Given the description of an element on the screen output the (x, y) to click on. 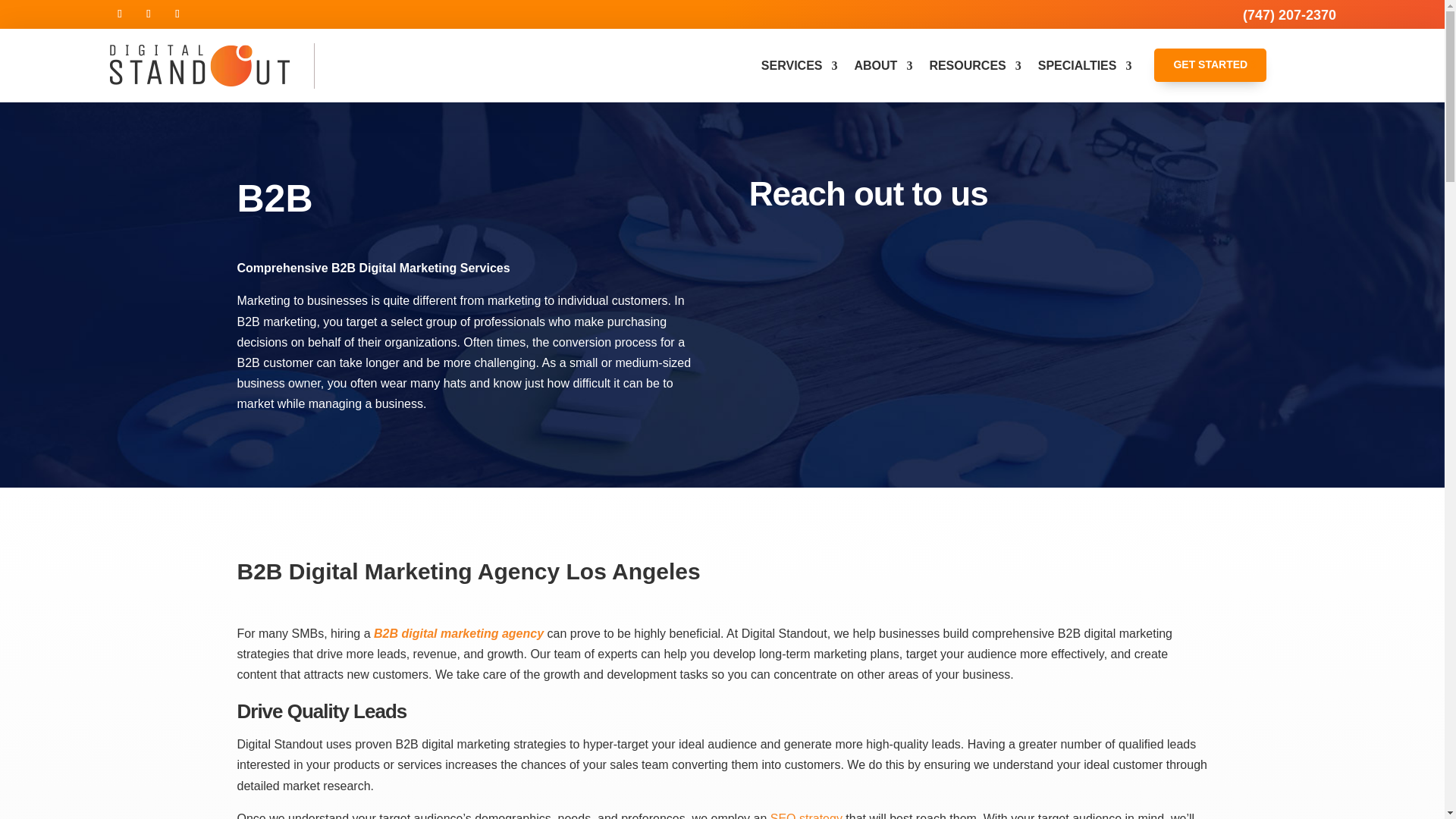
ABOUT (882, 65)
Follow on Facebook (119, 13)
Follow on Instagram (148, 13)
RESOURCES (974, 65)
SPECIALTIES (1085, 65)
SERVICES (799, 65)
Follow on LinkedIn (177, 13)
